Given the description of an element on the screen output the (x, y) to click on. 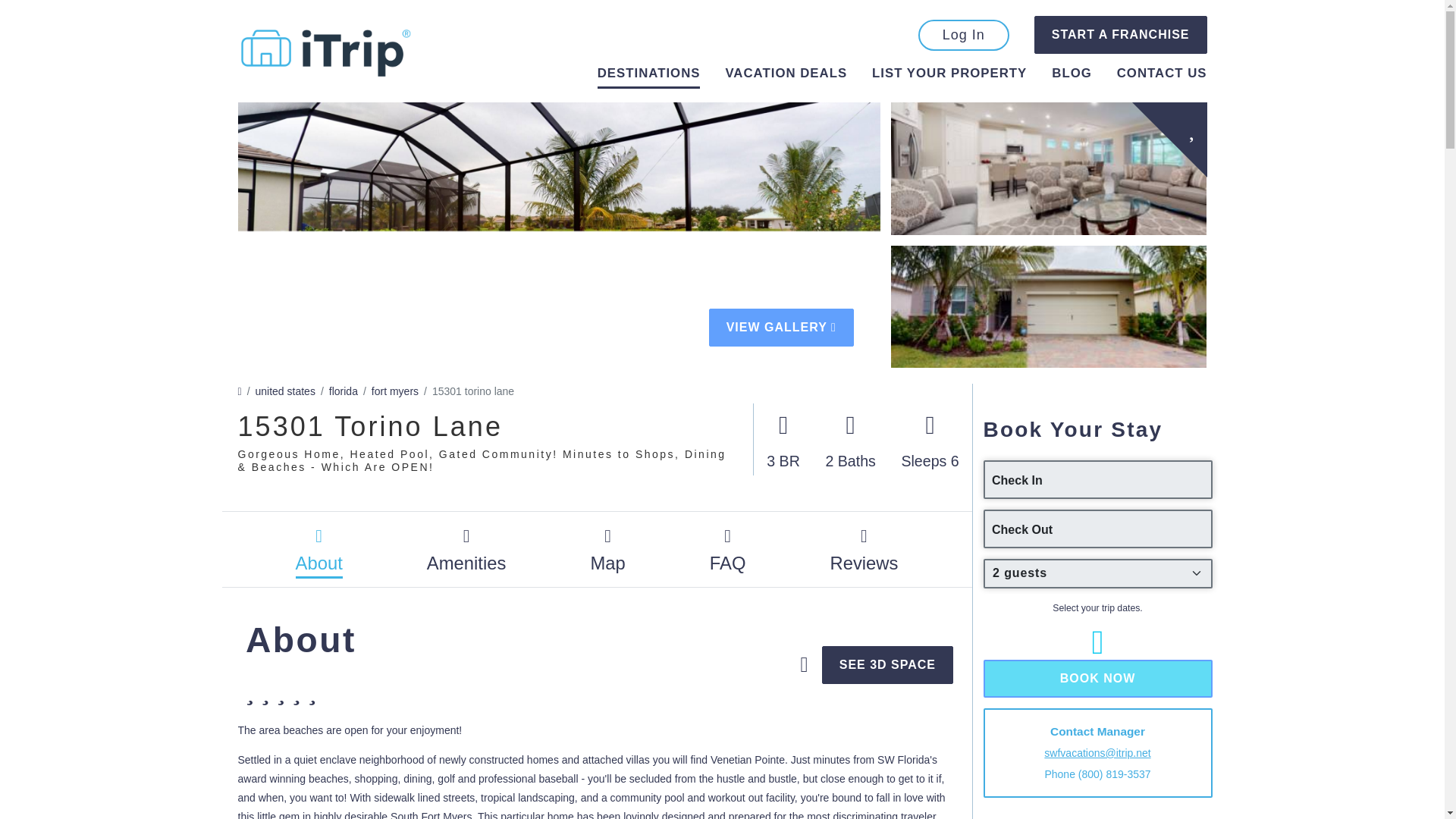
15301 torino lane (472, 390)
Create an account (1120, 34)
Florida (343, 390)
VIEW GALLERY (781, 327)
Amenities (465, 549)
Contact (1161, 72)
VACATION DEALS (786, 76)
